Given the description of an element on the screen output the (x, y) to click on. 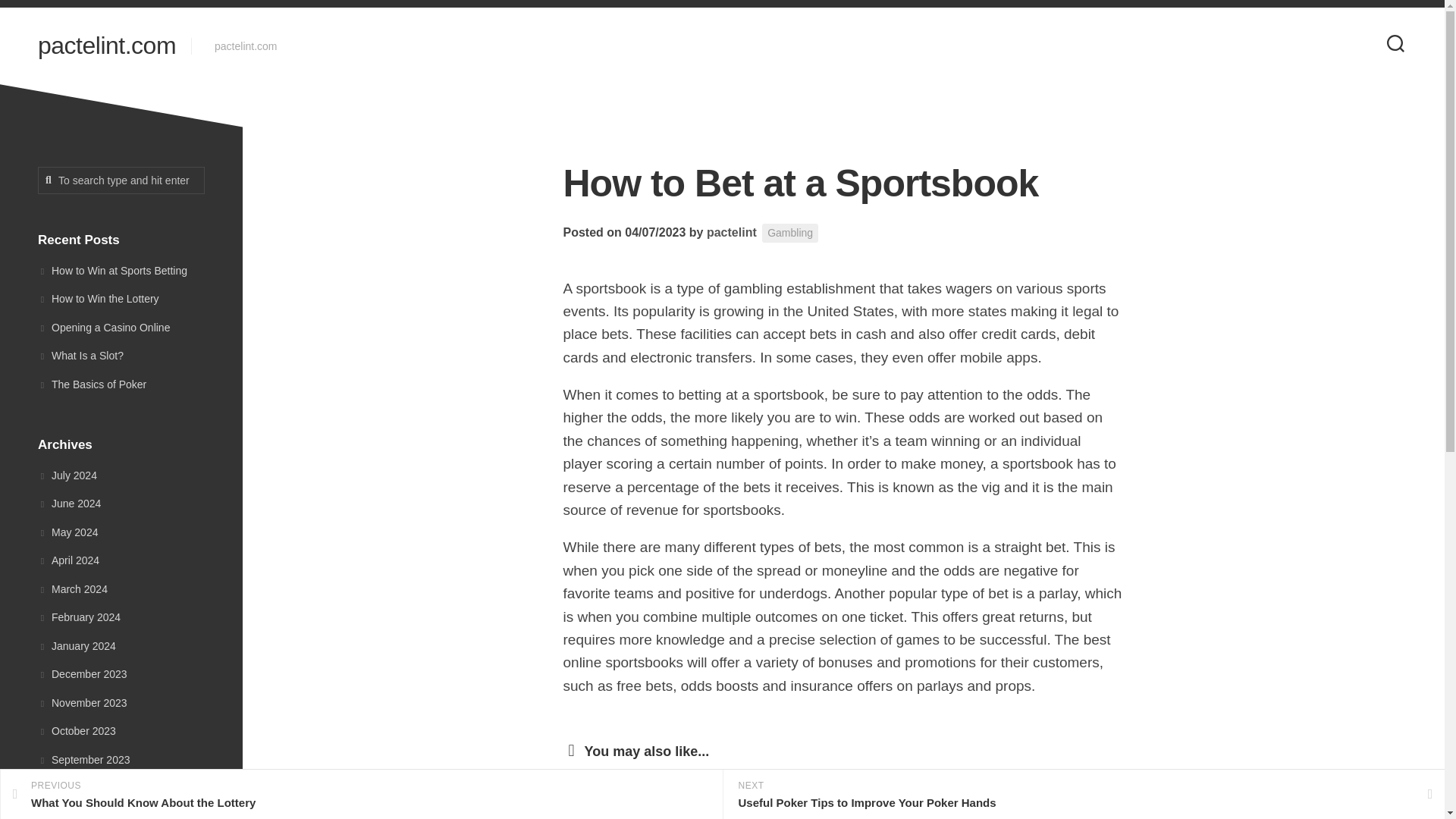
January 2024 (76, 645)
December 2023 (82, 674)
Posts by pactelint (731, 232)
What Is a Slot? (80, 355)
To search type and hit enter (121, 180)
To search type and hit enter (121, 180)
October 2023 (76, 730)
February 2024 (78, 616)
May 2024 (67, 532)
November 2023 (82, 702)
How to Win at Sports Betting (112, 269)
The Basics of Poker (92, 383)
How to Win the Lottery (97, 298)
March 2024 (72, 588)
